Given the description of an element on the screen output the (x, y) to click on. 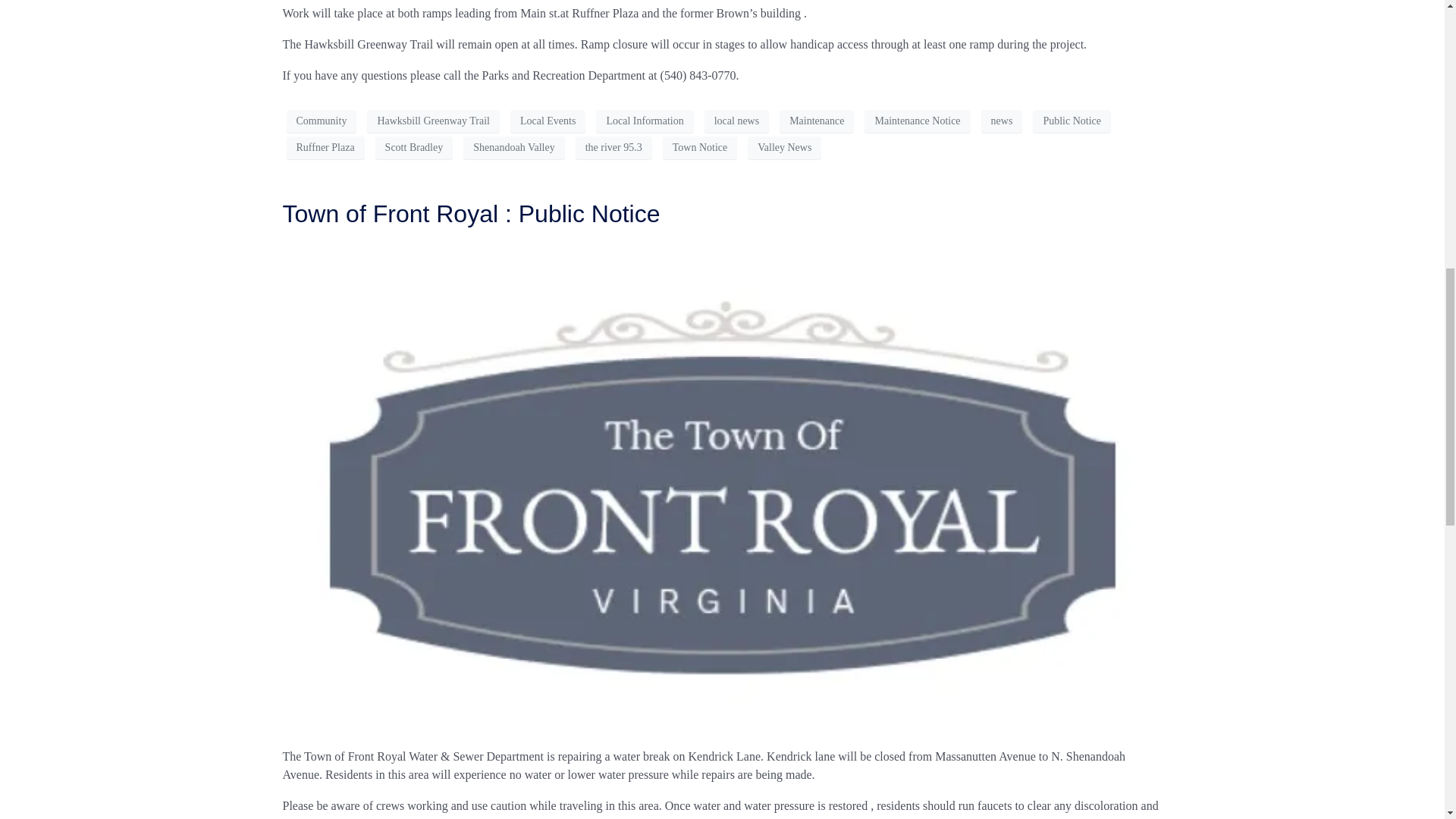
Town of Front Royal : Public Notice (721, 486)
Town of Front Royal : Public Notice (470, 213)
